Given the description of an element on the screen output the (x, y) to click on. 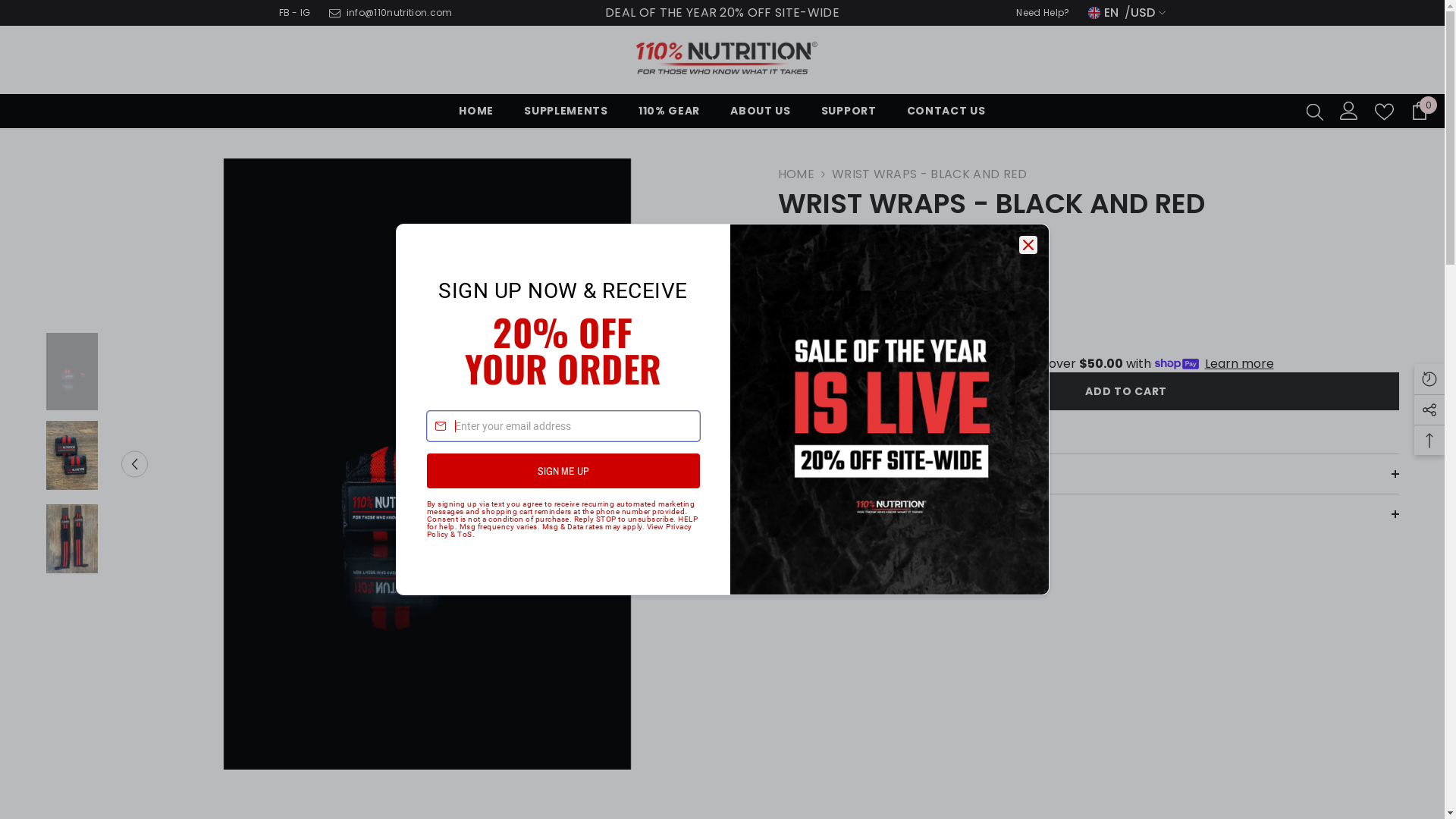
110% GEAR Element type: text (669, 115)
IG Element type: text (305, 12)
Wrist Wraps - Black and Red Element type: hover (71, 371)
FB Element type: text (284, 12)
SIGN ME UP Element type: text (562, 470)
Wrist Wraps - Black and Red Element type: hover (71, 454)
Product Details
  Element type: text (1088, 473)
Log in Element type: text (1348, 110)
HOME Element type: text (796, 174)
SUPPLEMENTS Element type: text (565, 115)
Need Help? Element type: text (1042, 12)
Wrist Wraps - Black and Red Element type: hover (71, 538)
HOME Element type: text (475, 115)
Increase quantity for Wrist Wraps - Black and Red Element type: text (849, 324)
CONTACT US Element type: text (946, 115)
Decrease quantity for Wrist Wraps - Black and Red Element type: text (789, 324)
SHARE Element type: text (791, 391)
ABOUT US Element type: text (760, 115)
Wish Lists Element type: text (1384, 111)
https://110nutrition.com/products/wrist-wraps-black-and-red Element type: text (870, 464)
Shipping & Return
  Element type: text (1088, 513)
ADD TO CART Element type: text (1126, 391)
Add to wishlist Element type: text (823, 391)
Cart
0
0 items Element type: text (1419, 110)
EN Element type: text (1105, 12)
info@110nutrition.com Element type: text (399, 12)
SUPPORT Element type: text (848, 115)
